Given the description of an element on the screen output the (x, y) to click on. 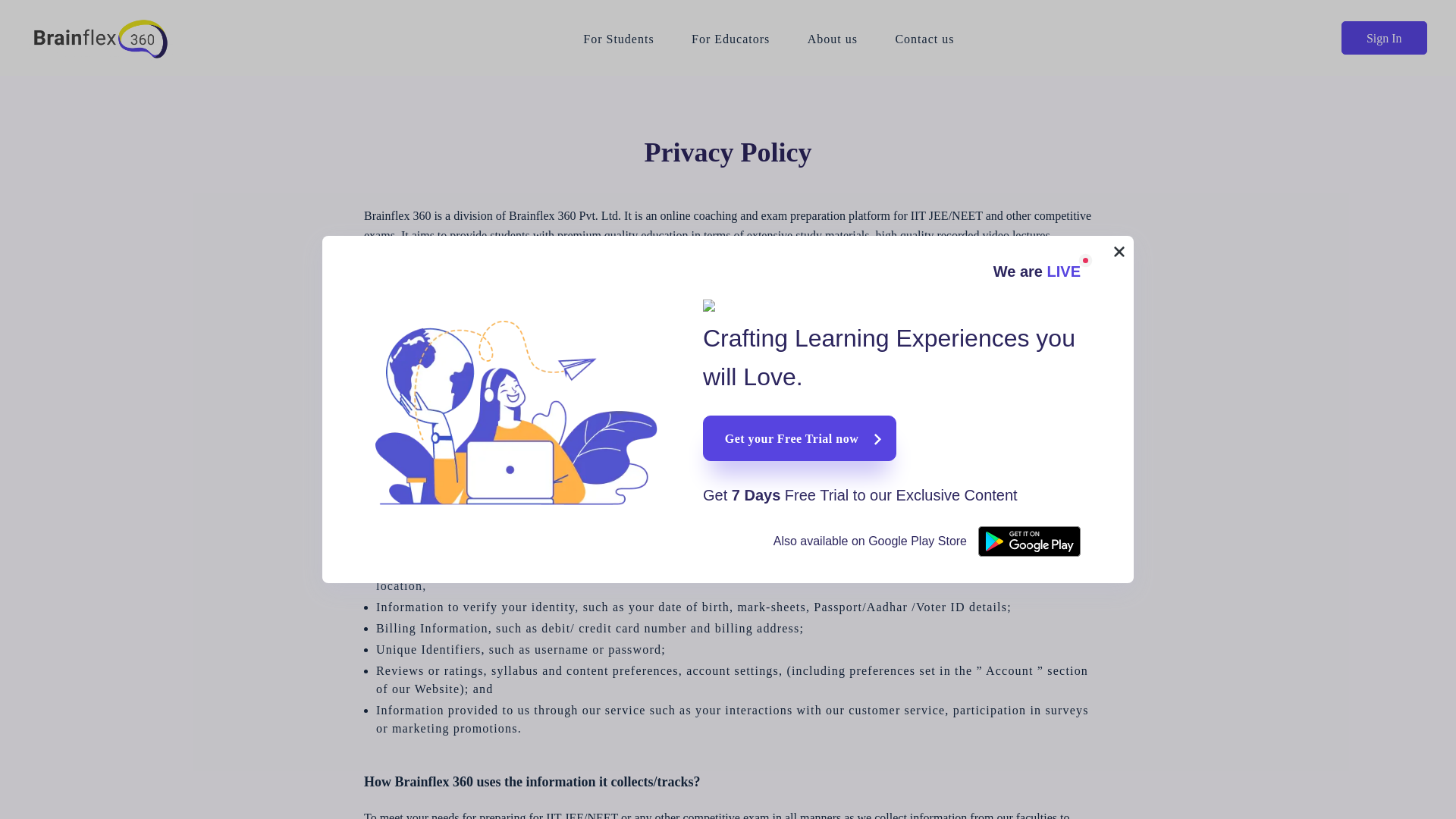
Sign In (1383, 37)
For Students (618, 44)
Contact us (924, 44)
BrainFlex 360 (129, 37)
BRAINFLEX 360 (129, 37)
For Educators (730, 44)
About us (832, 44)
